Given the description of an element on the screen output the (x, y) to click on. 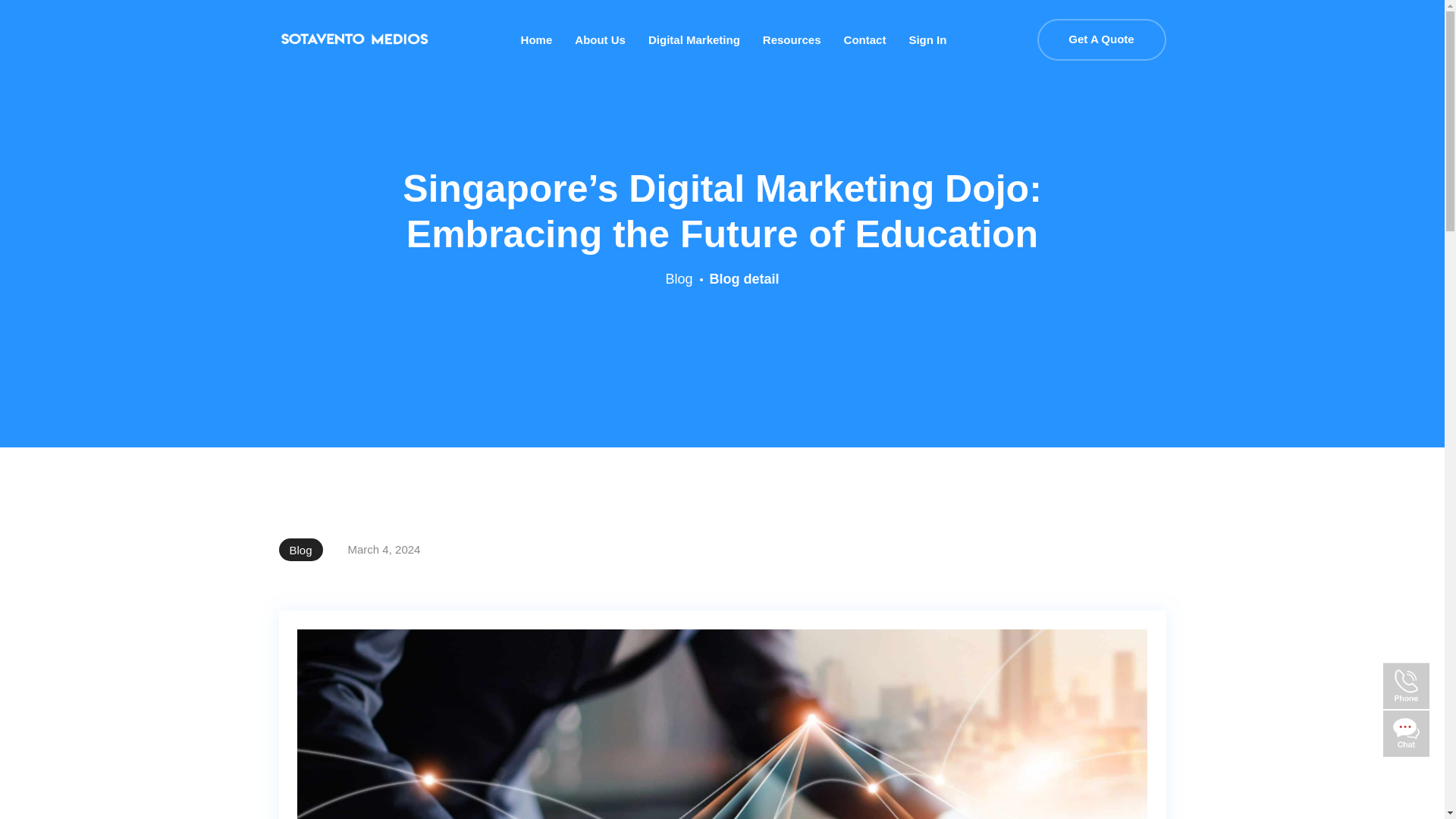
Blog (301, 549)
Contact (865, 39)
Blog (679, 278)
Get A Quote (1101, 39)
About Us (600, 39)
Sign In (927, 39)
Digital Marketing (693, 39)
Resources (791, 39)
Home (537, 39)
